Given the description of an element on the screen output the (x, y) to click on. 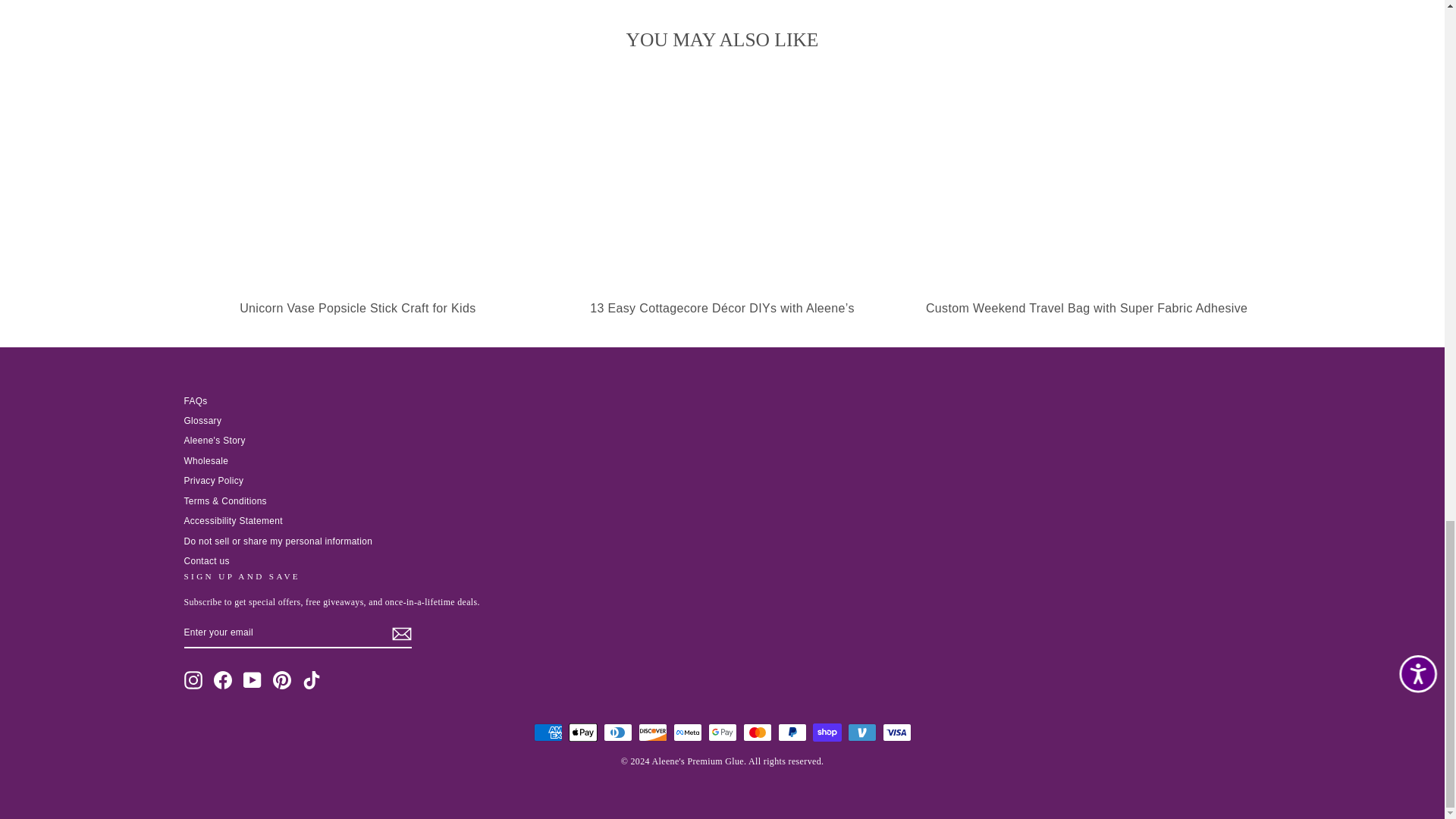
Aleene's on Facebook (222, 679)
American Express (548, 732)
Google Pay (721, 732)
Discover (652, 732)
Mastercard (756, 732)
Aleene's on Pinterest (282, 679)
instagram (192, 679)
Aleene's on YouTube (251, 679)
Aleene's on TikTok (310, 679)
Meta Pay (686, 732)
Apple Pay (582, 732)
Aleene's on Instagram (192, 679)
Diners Club (617, 732)
